Given the description of an element on the screen output the (x, y) to click on. 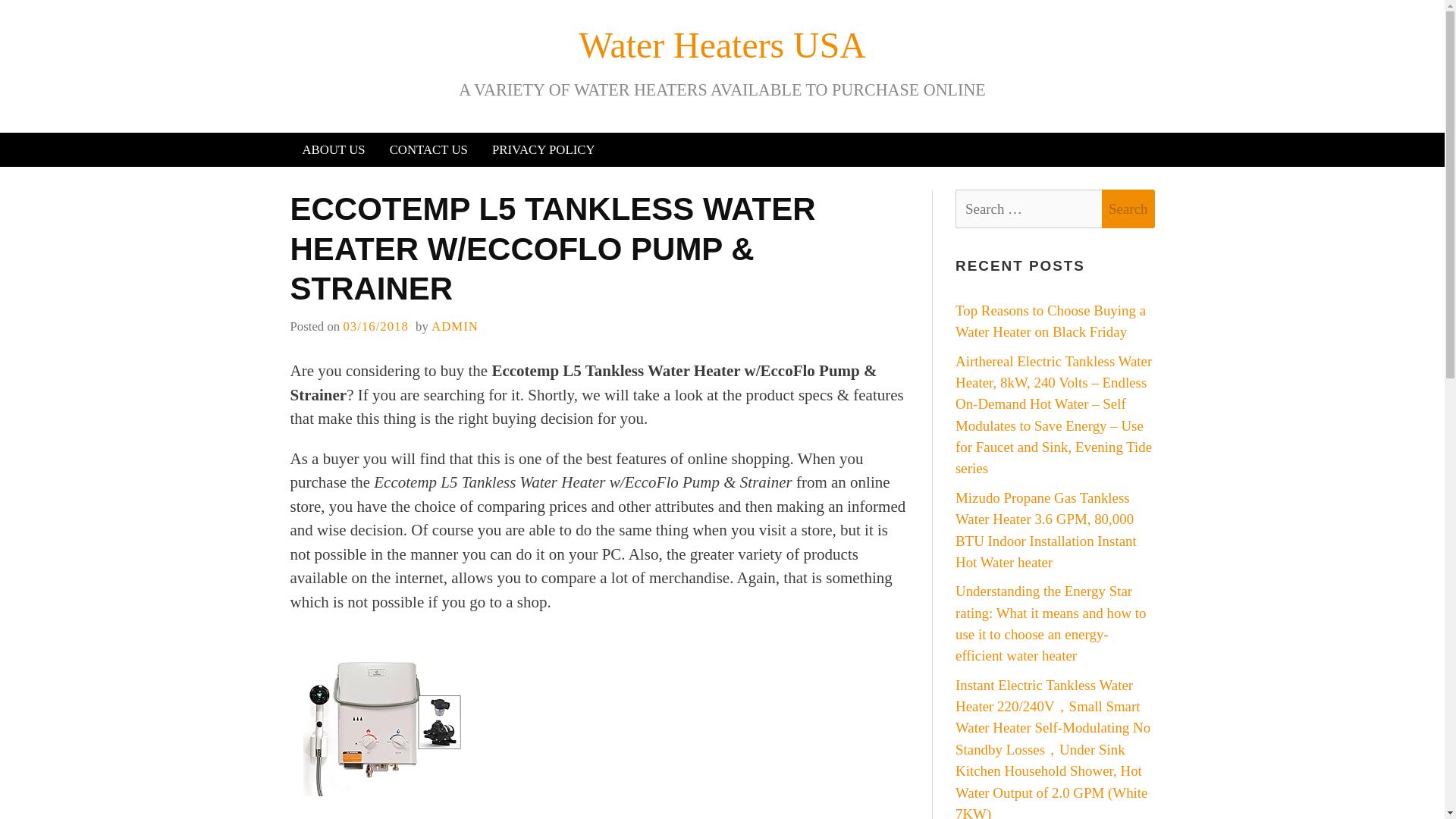
Water Heaters USA (722, 45)
CONTACT US (428, 149)
ABOUT US (333, 149)
Top Reasons to Choose Buying a Water Heater on Black Friday (1050, 320)
ADMIN (454, 326)
Search (1128, 208)
Search (1128, 208)
Search (1128, 208)
PRIVACY POLICY (543, 149)
